Given the description of an element on the screen output the (x, y) to click on. 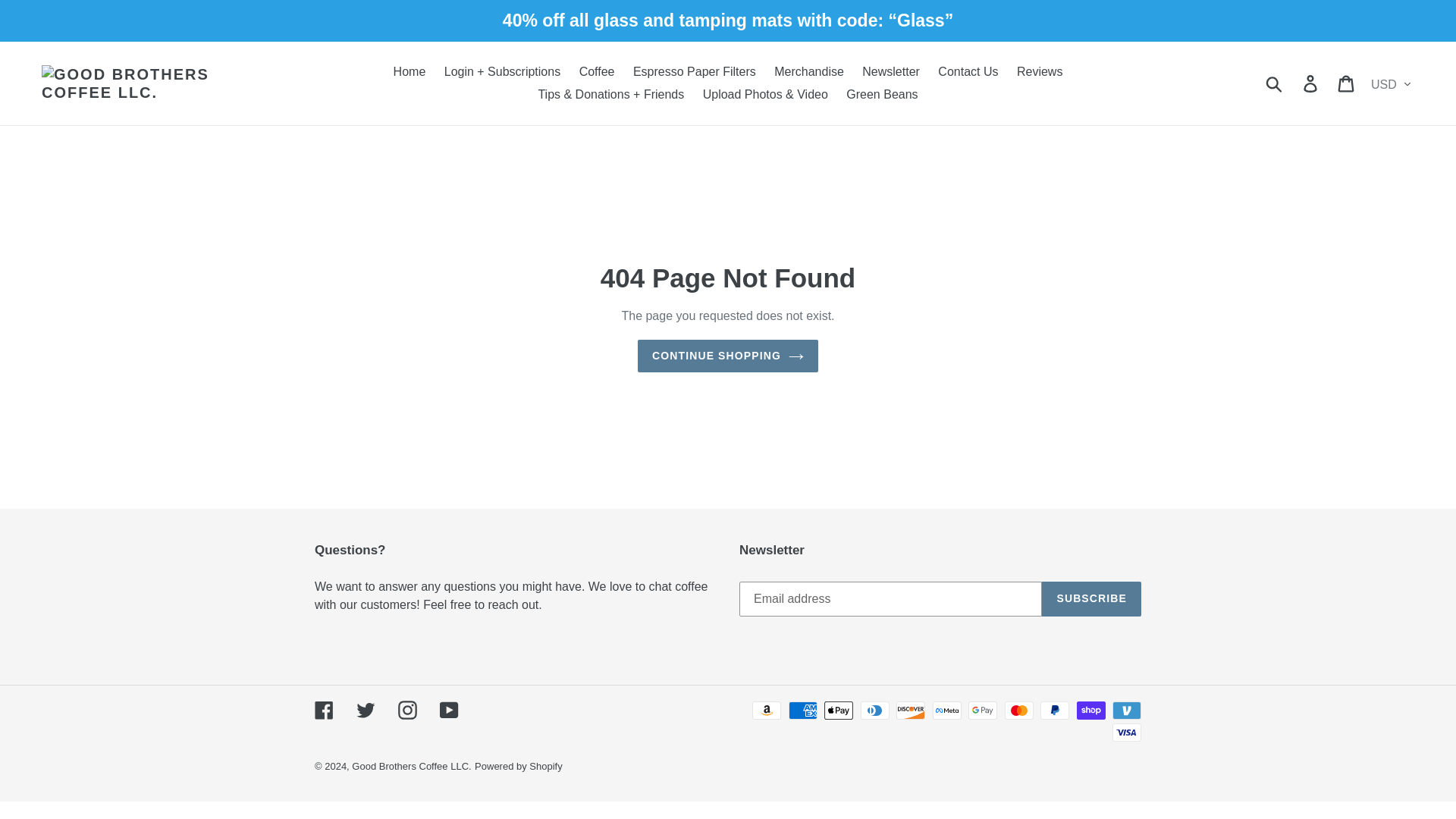
Reviews (1039, 71)
YouTube (448, 710)
Cart (1347, 82)
SUBSCRIBE (1091, 598)
Facebook (323, 710)
Contact Us (968, 71)
Good Brothers Coffee LLC. (411, 766)
Green Beans (881, 94)
Submit (1275, 82)
Merchandise (809, 71)
Instagram (406, 710)
CONTINUE SHOPPING (727, 355)
Newsletter (890, 71)
Powered by Shopify (518, 766)
Espresso Paper Filters (694, 71)
